Given the description of an element on the screen output the (x, y) to click on. 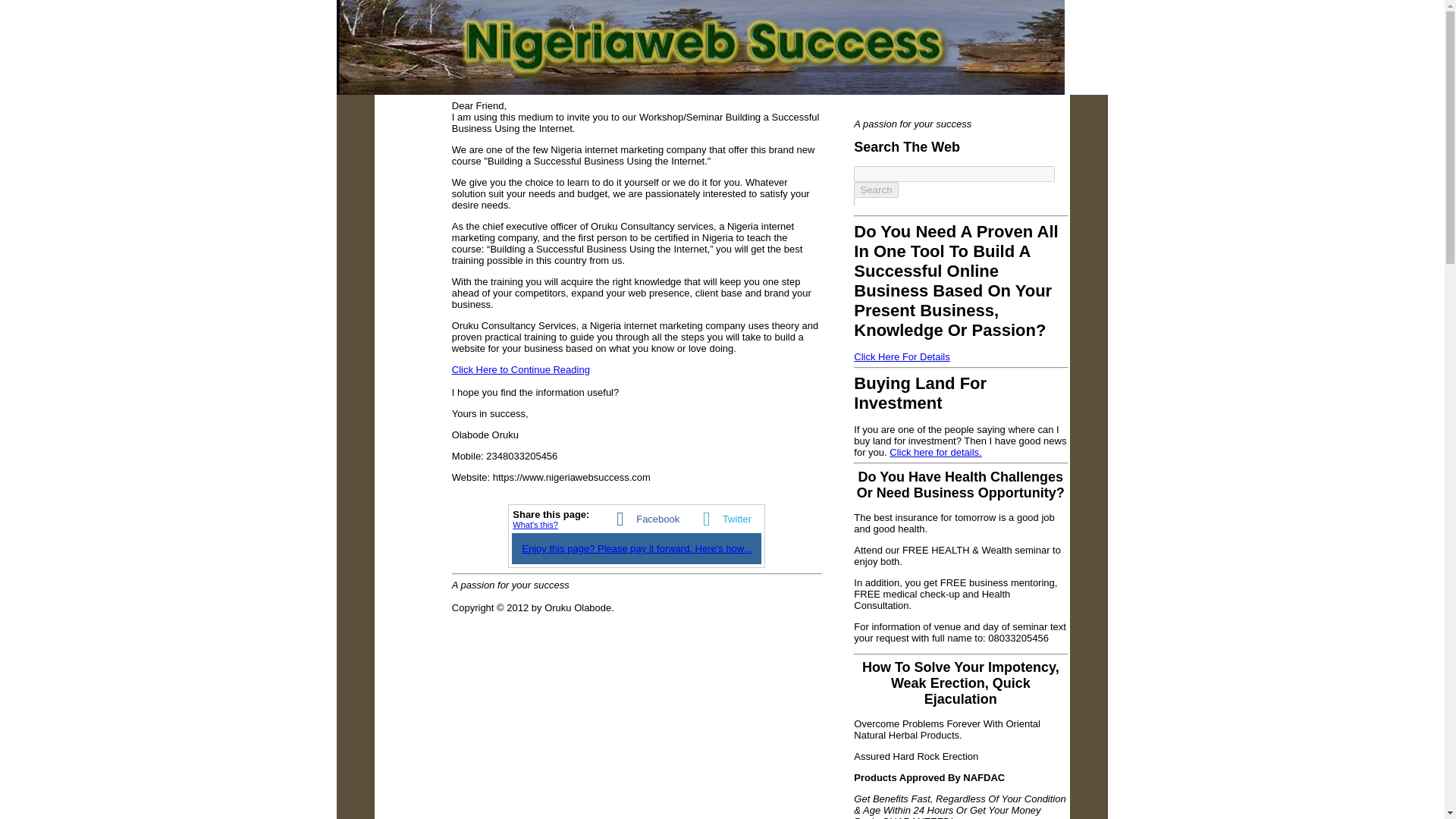
Click Here For Details (901, 355)
Click here for details. (935, 451)
Click opens new window (520, 369)
Click Here to Continue Reading (520, 369)
Twitter (722, 518)
Search (875, 189)
Facebook (643, 518)
What's this? (534, 524)
Enjoy this page? Please pay it forward. Here's how... (636, 548)
Search (875, 189)
